Given the description of an element on the screen output the (x, y) to click on. 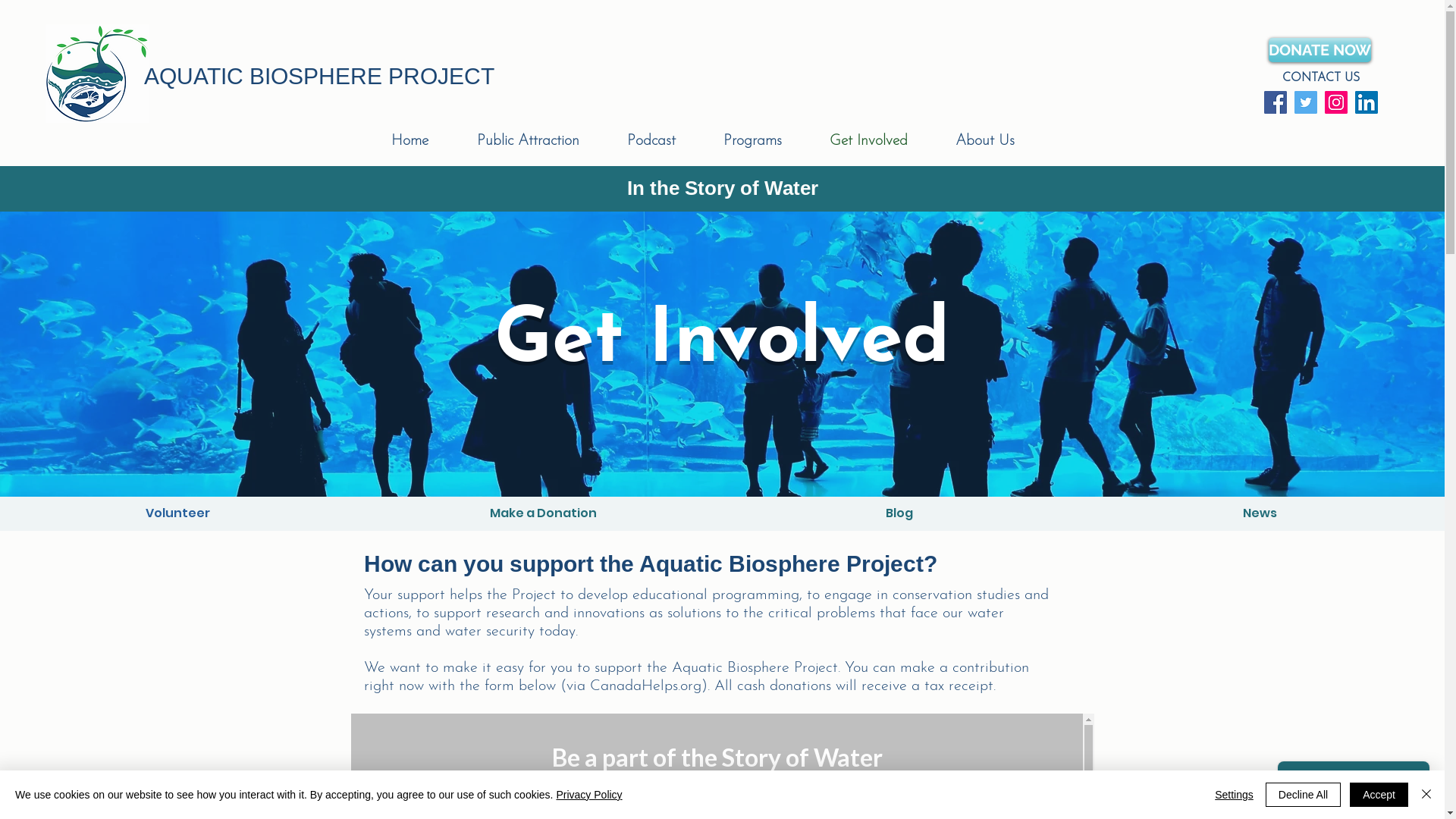
Programs Element type: text (768, 141)
Podcast Element type: text (666, 141)
CONTACT US Element type: text (1320, 77)
Make a Donation Element type: text (543, 513)
News Element type: text (1259, 513)
DONATE NOW Element type: text (1319, 49)
AQUATIC BIOSPHERE PROJECT Element type: text (319, 75)
Decline All Element type: text (1302, 794)
In the Story of Water Element type: text (721, 189)
Privacy Policy Element type: text (588, 794)
Accept Element type: text (1378, 794)
About Us Element type: text (1000, 141)
Get Involved Element type: text (884, 141)
Home Element type: text (426, 141)
Volunteer Element type: text (177, 513)
Blog Element type: text (898, 513)
Public Attraction Element type: text (543, 141)
